Given the description of an element on the screen output the (x, y) to click on. 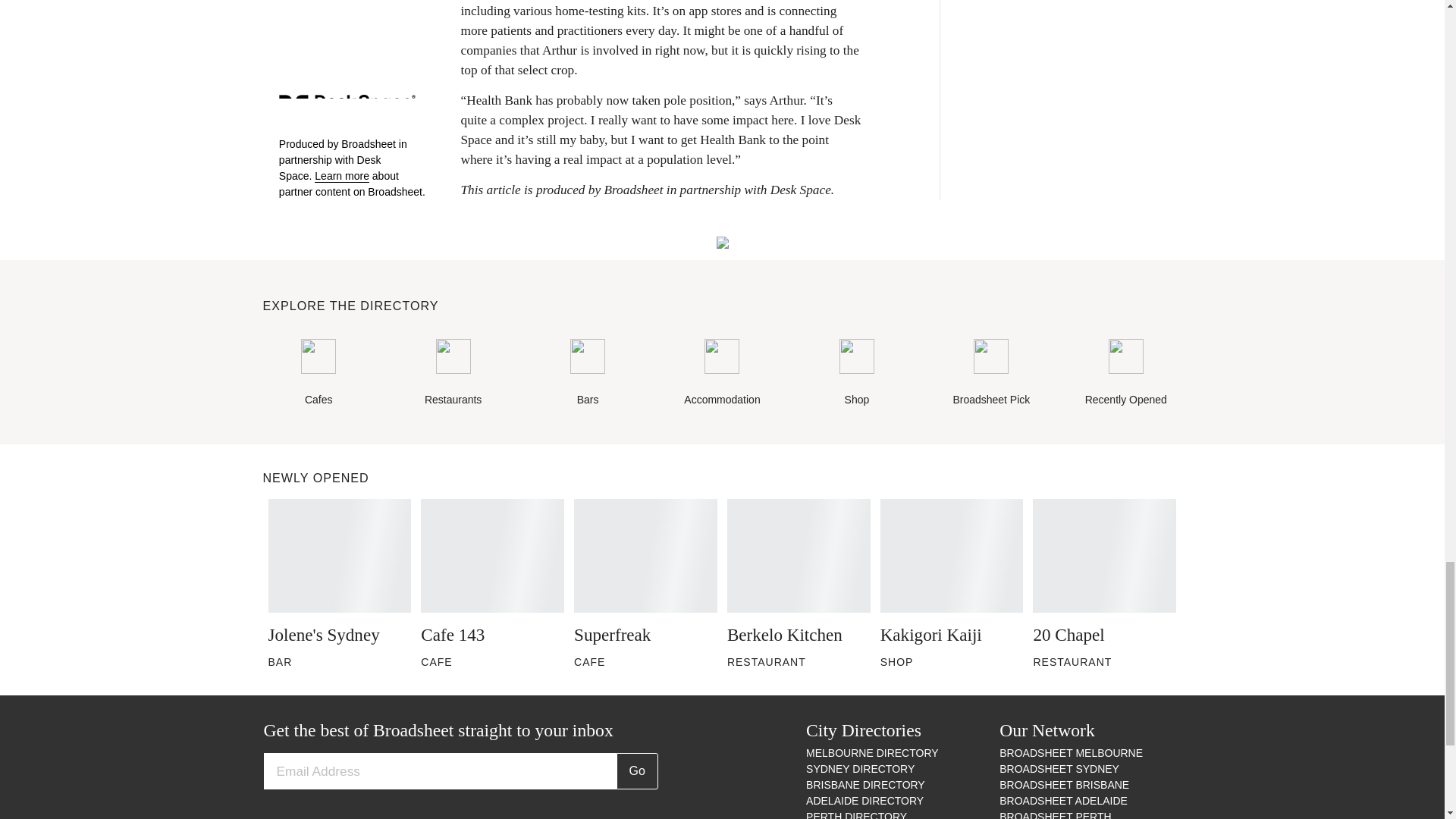
Cafes (318, 373)
Broadsheet Pick (991, 373)
Recently Opened (1125, 373)
Broadsheet Pick (991, 373)
Bars (587, 373)
Cafes (318, 373)
Bars (587, 373)
Shop (856, 373)
Restaurants (452, 373)
Accommodation (721, 373)
Learn more (341, 175)
Shop (856, 373)
Accommodation (721, 373)
Restaurants (452, 373)
